Given the description of an element on the screen output the (x, y) to click on. 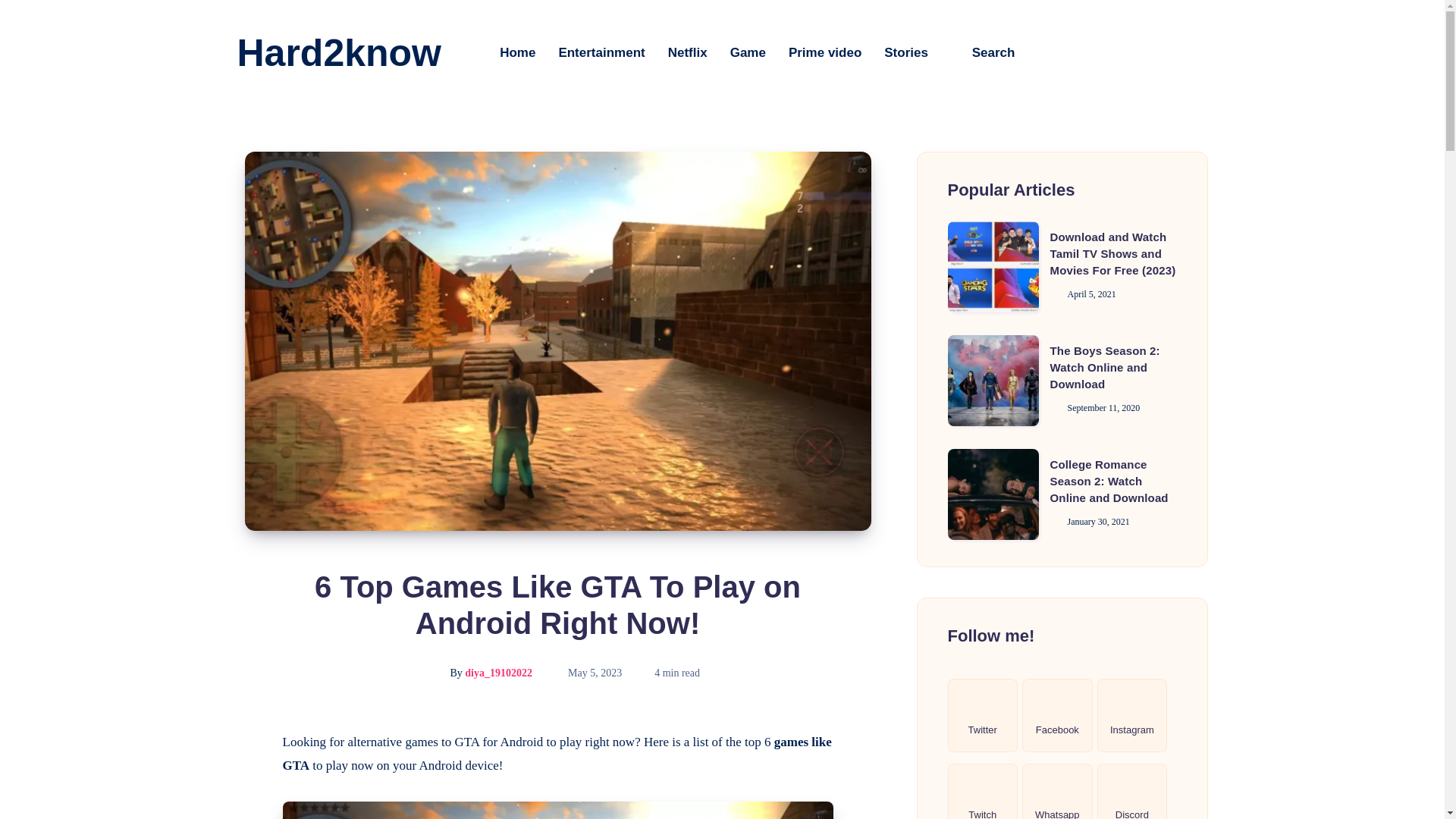
Share on Pinterest (244, 807)
Stories (905, 52)
Search (982, 52)
Home (517, 52)
Netflix (687, 52)
Share on Facebook (244, 742)
Hard2know (338, 53)
Game (747, 52)
Entertainment (601, 52)
Share on Twitter (244, 776)
Prime video (825, 52)
